Given the description of an element on the screen output the (x, y) to click on. 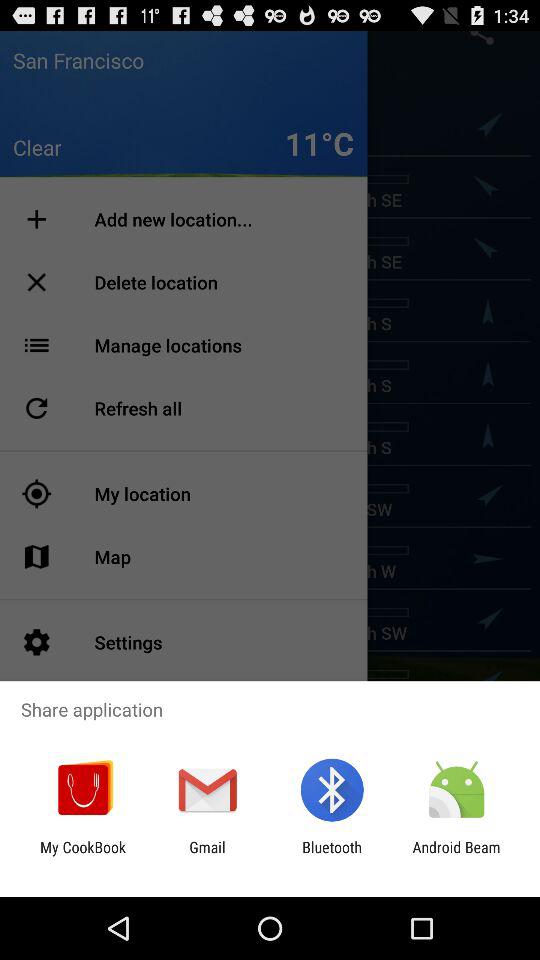
press app next to android beam app (331, 856)
